Given the description of an element on the screen output the (x, y) to click on. 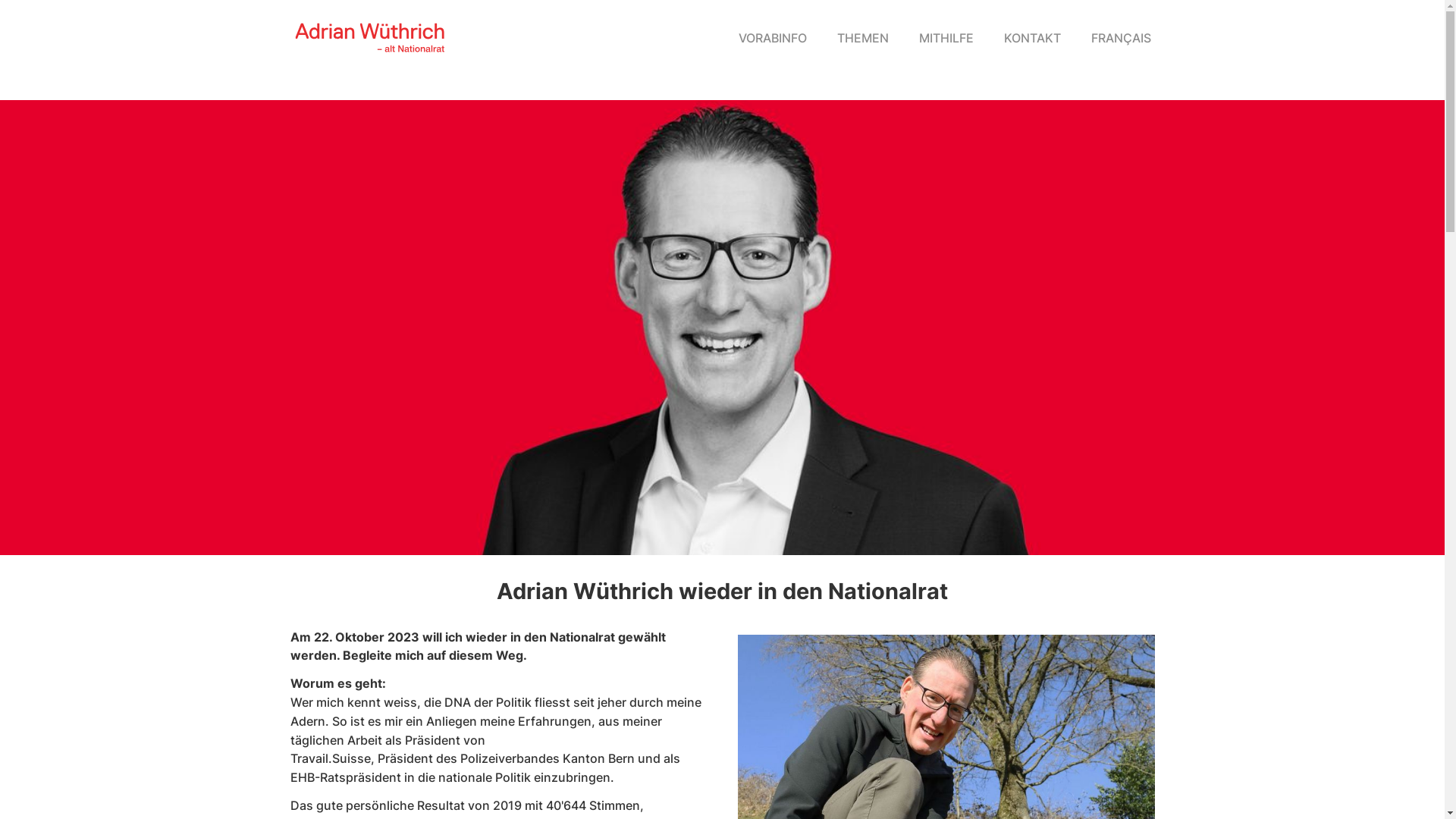
VORABINFO Element type: text (772, 37)
THEMEN Element type: text (862, 37)
KONTAKT Element type: text (1032, 37)
MITHILFE Element type: text (945, 37)
